Given the description of an element on the screen output the (x, y) to click on. 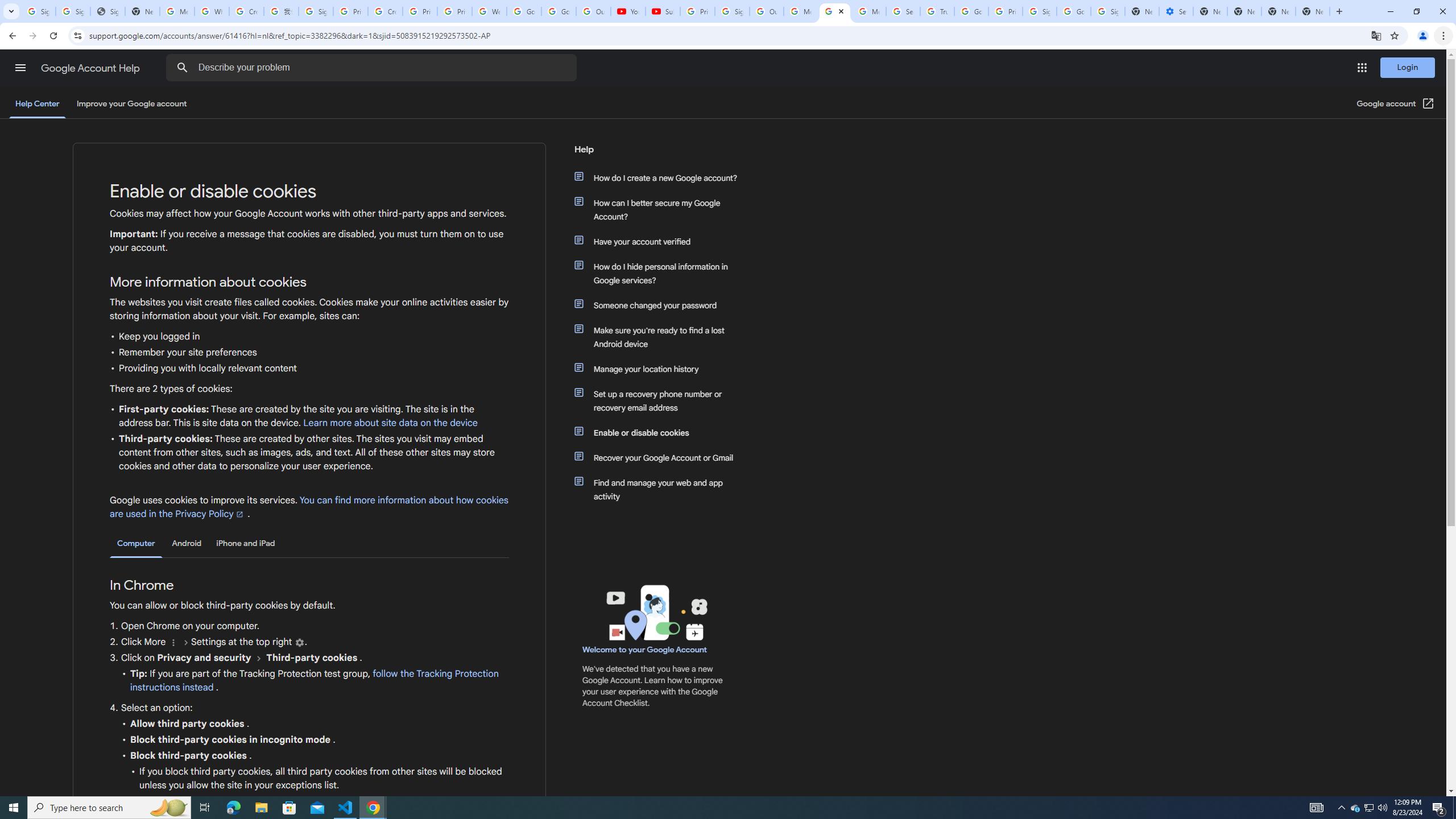
Find and manage your web and app activity (661, 489)
Manage your location history (661, 368)
Learn more about site data on the device (390, 423)
Android (186, 542)
Computer (136, 543)
How can I better secure my Google Account? (661, 209)
Sign In - USA TODAY (107, 11)
Welcome to your Google Account (644, 649)
Institutions (299, 642)
Translate this page (1376, 35)
